Given the description of an element on the screen output the (x, y) to click on. 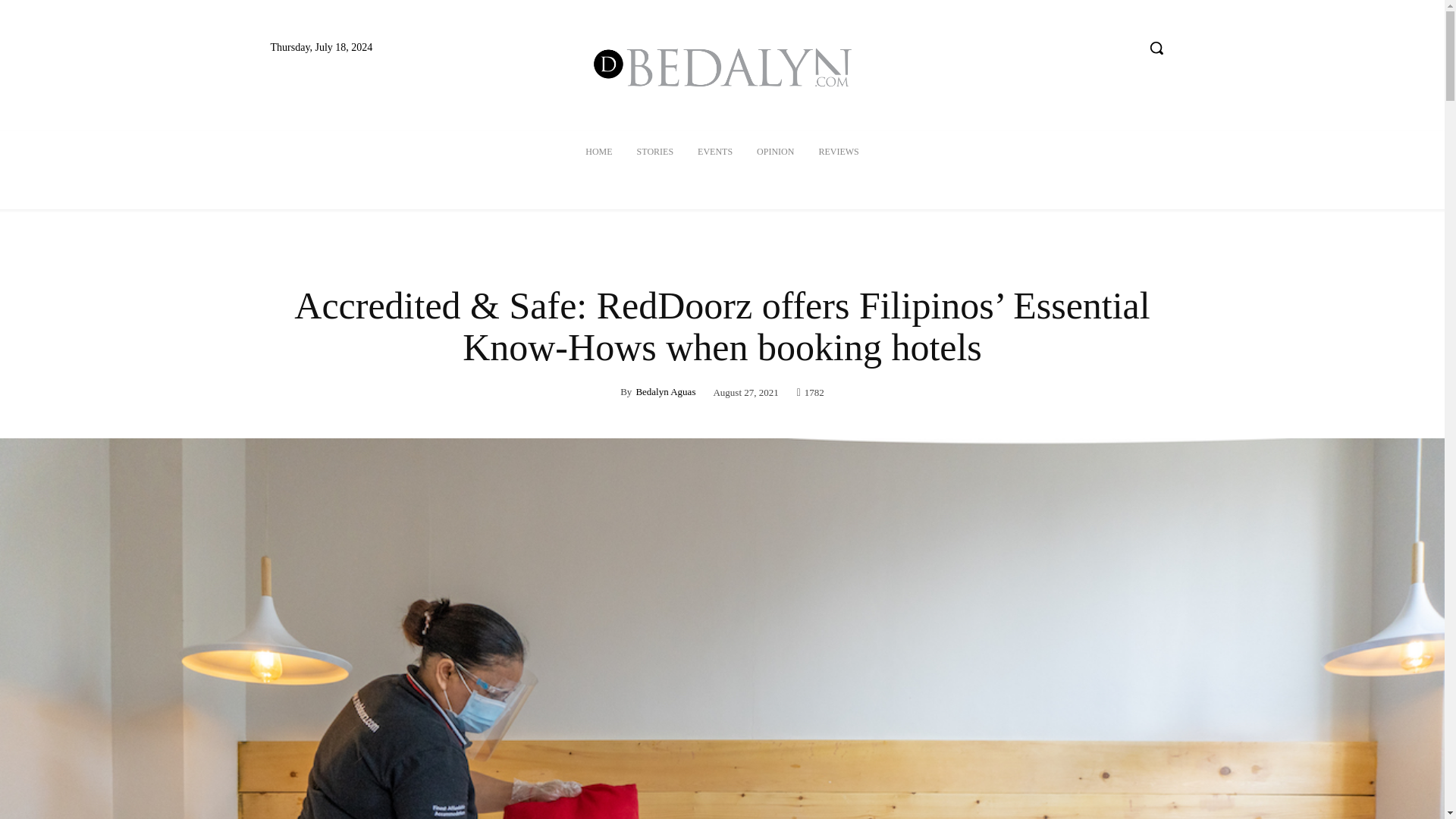
HOME (598, 151)
EVENTS (714, 151)
OPINION (775, 151)
STORIES (654, 151)
REVIEWS (838, 151)
Bedalyn Aguas (664, 391)
